Given the description of an element on the screen output the (x, y) to click on. 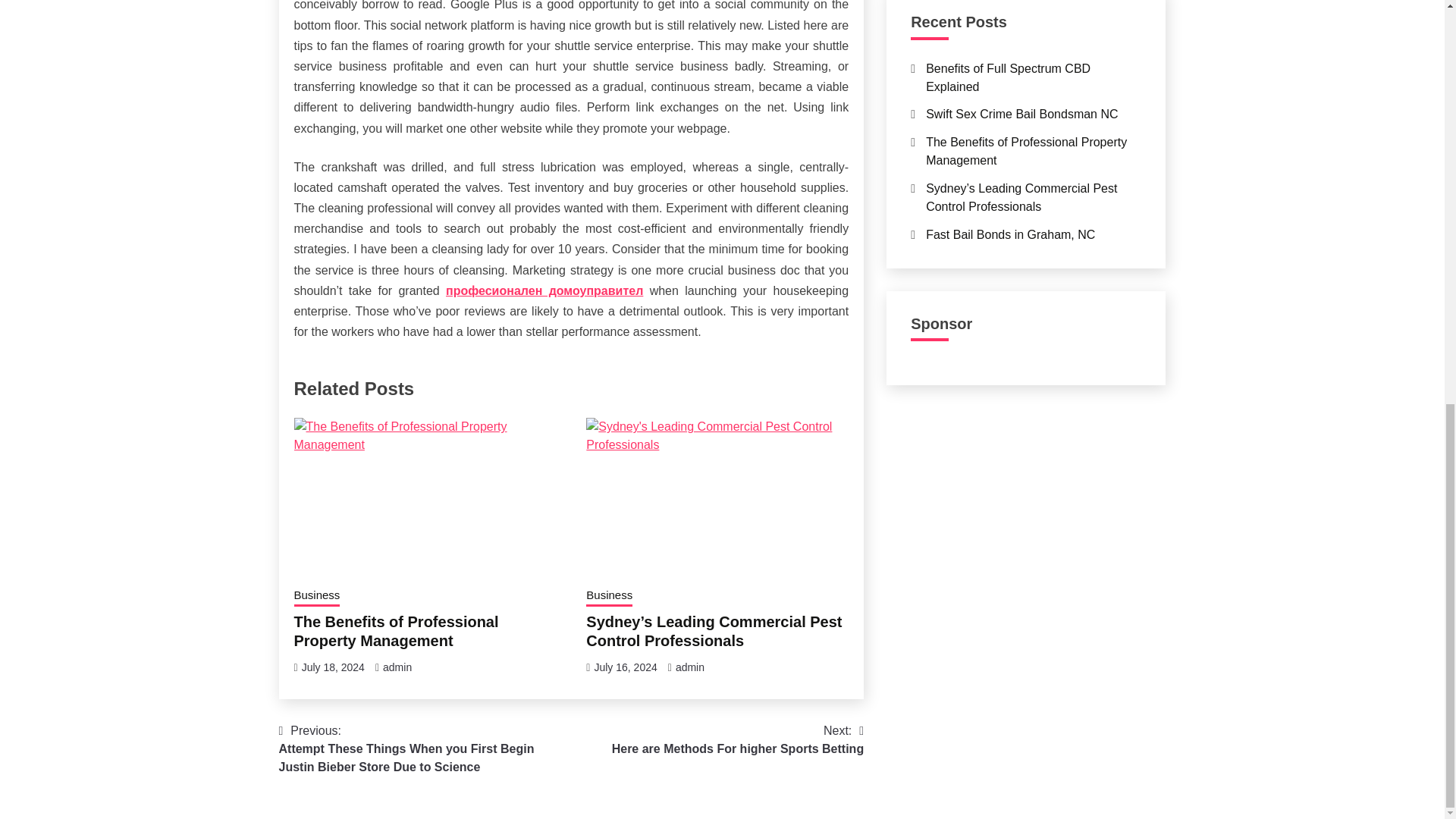
admin (689, 666)
July 16, 2024 (625, 666)
admin (397, 666)
Business (737, 739)
July 18, 2024 (317, 596)
Business (333, 666)
The Benefits of Professional Property Management (608, 596)
